Given the description of an element on the screen output the (x, y) to click on. 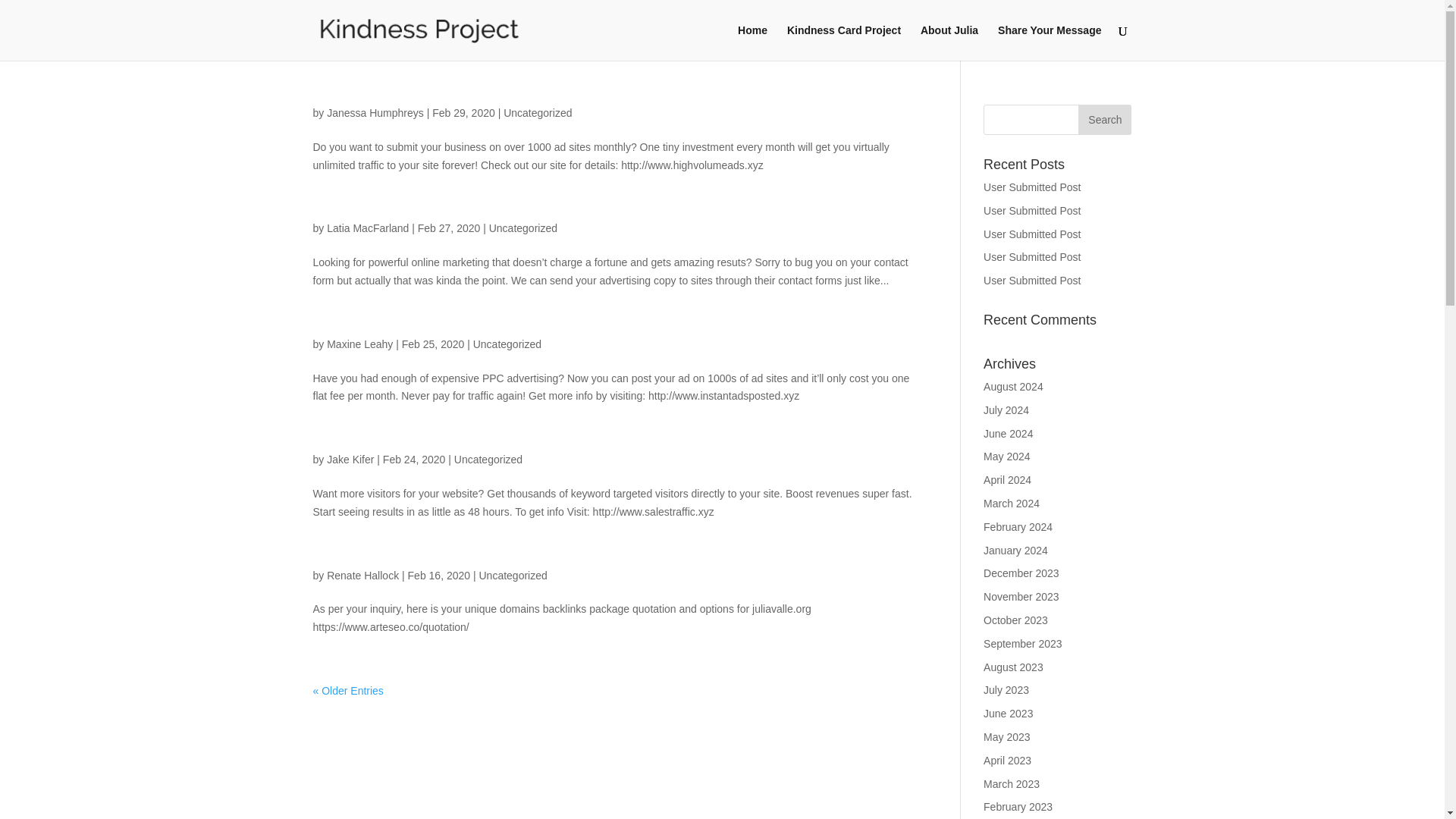
July 2024 (1006, 410)
Share Your Message (1048, 42)
Jake Kifer (350, 459)
Janessa Humphreys (374, 112)
January 2024 (1016, 550)
About Julia (949, 42)
Kindness Card Project (844, 42)
Uncategorized (537, 112)
Uncategorized (488, 459)
May 2024 (1006, 456)
Latia MacFarland (367, 227)
June 2024 (1008, 433)
User Submitted Post (1032, 234)
Uncategorized (513, 575)
March 2024 (1011, 503)
